Given the description of an element on the screen output the (x, y) to click on. 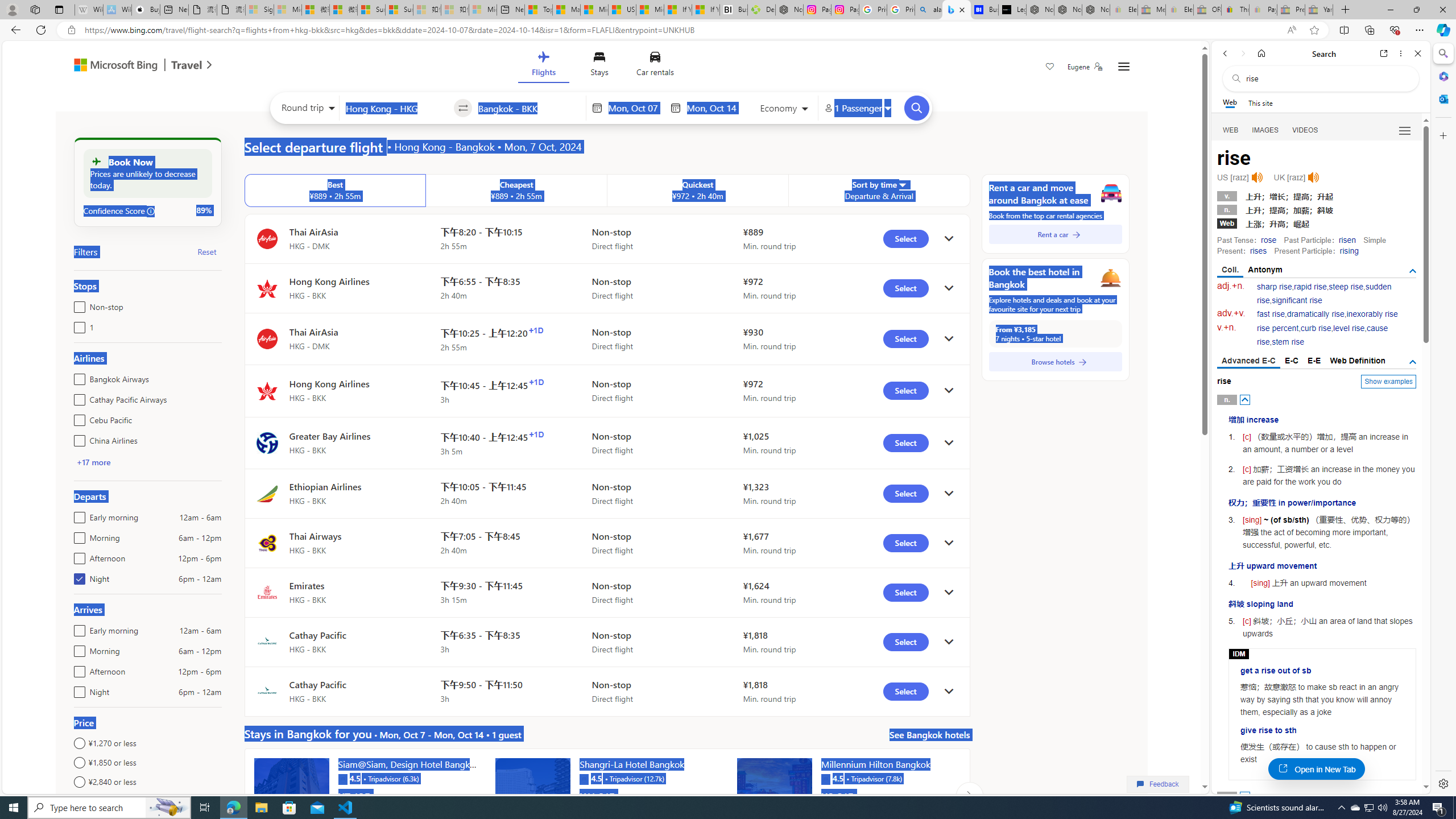
Search the web (1326, 78)
Payments Terms of Use | eBay.com - Sleeping (1262, 9)
Night6pm - 12am (76, 689)
Class: msft-bing-logo msft-bing-logo-desktop (112, 64)
Bangkok Airways (76, 376)
Microsoft account | Account Checkup - Sleeping (483, 9)
Class: trvl-hub-header nofilter (601, 65)
